Given the description of an element on the screen output the (x, y) to click on. 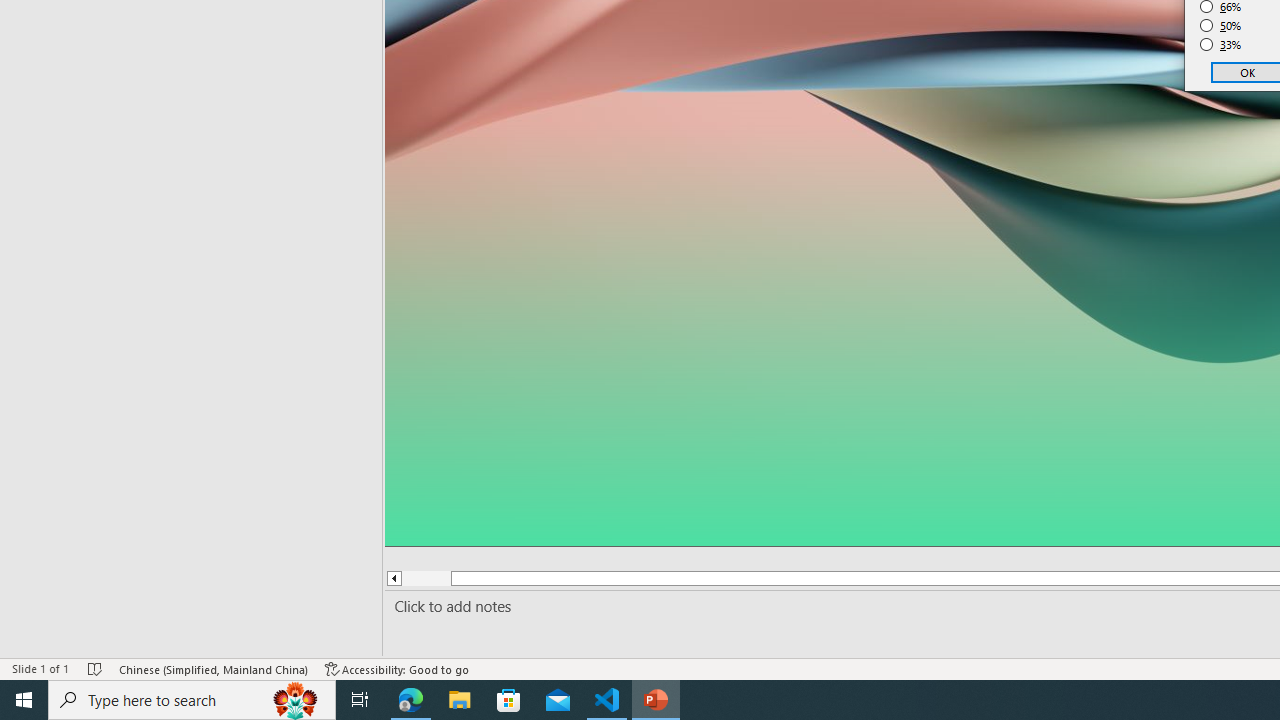
Microsoft Store (509, 699)
Microsoft Edge - 1 running window (411, 699)
33% (1221, 44)
Type here to search (191, 699)
Task View (359, 699)
PowerPoint - 1 running window (656, 699)
Visual Studio Code - 1 running window (607, 699)
Page up (425, 578)
Start (24, 699)
Search highlights icon opens search home window (295, 699)
Accessibility Checker Accessibility: Good to go (397, 668)
File Explorer (460, 699)
50% (1221, 25)
